Given the description of an element on the screen output the (x, y) to click on. 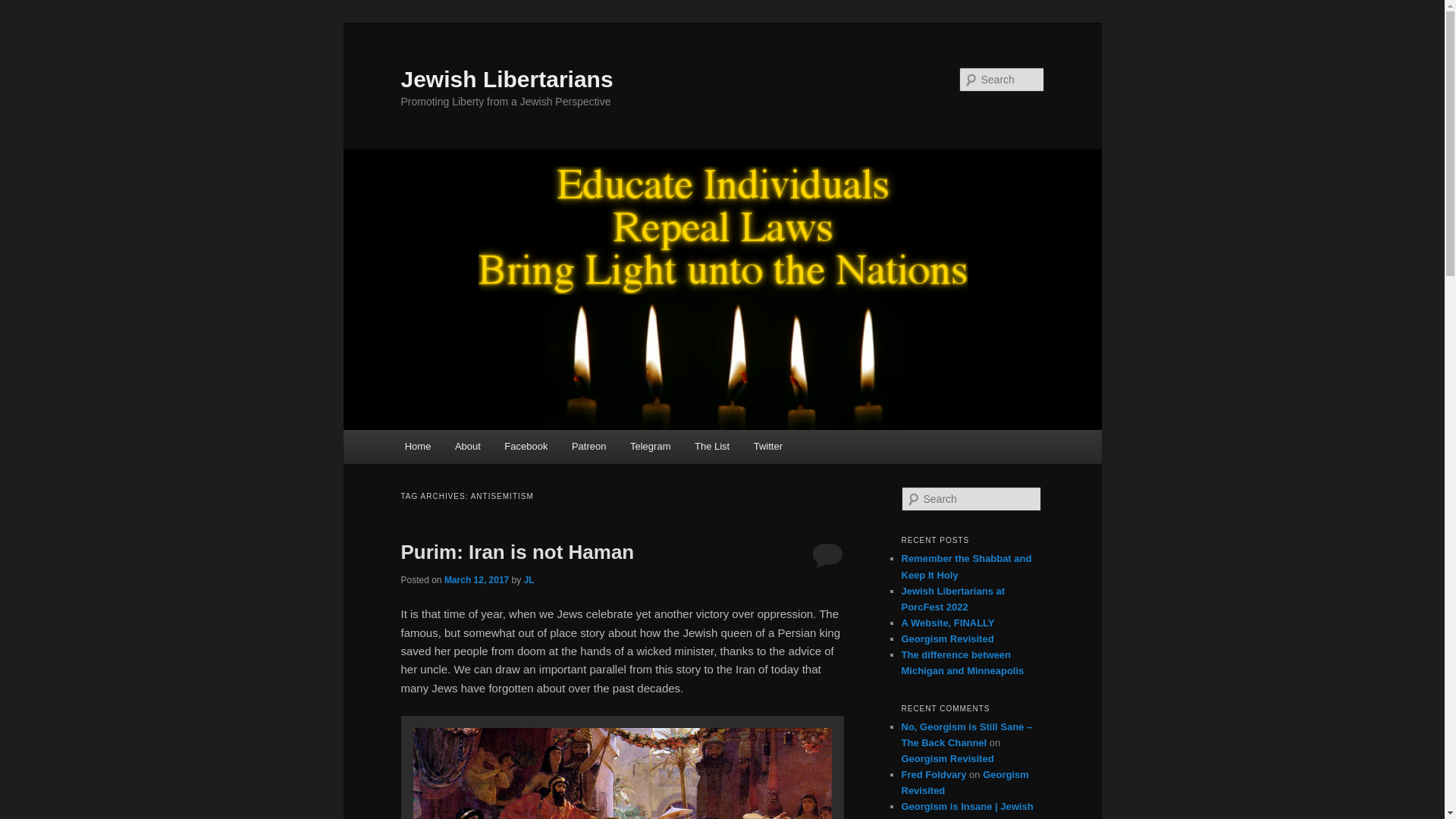
Twitter (767, 445)
11:45 am (476, 579)
Home (417, 445)
Patreon (588, 445)
March 12, 2017 (476, 579)
Facebook (526, 445)
About (467, 445)
Search (24, 8)
The List (711, 445)
